Given the description of an element on the screen output the (x, y) to click on. 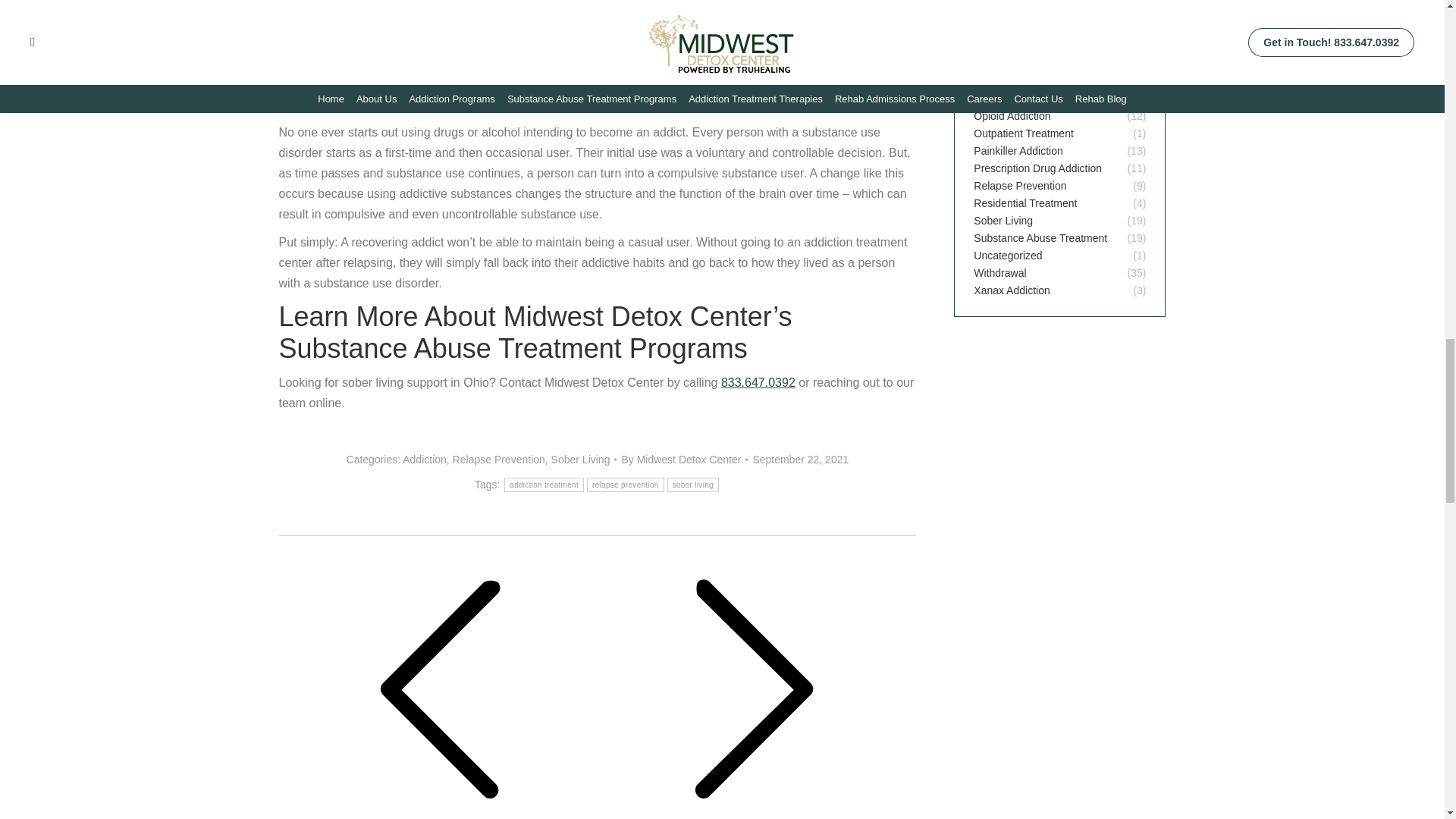
View all posts by Midwest Detox Center (684, 459)
9:13 pm (800, 459)
